Given the description of an element on the screen output the (x, y) to click on. 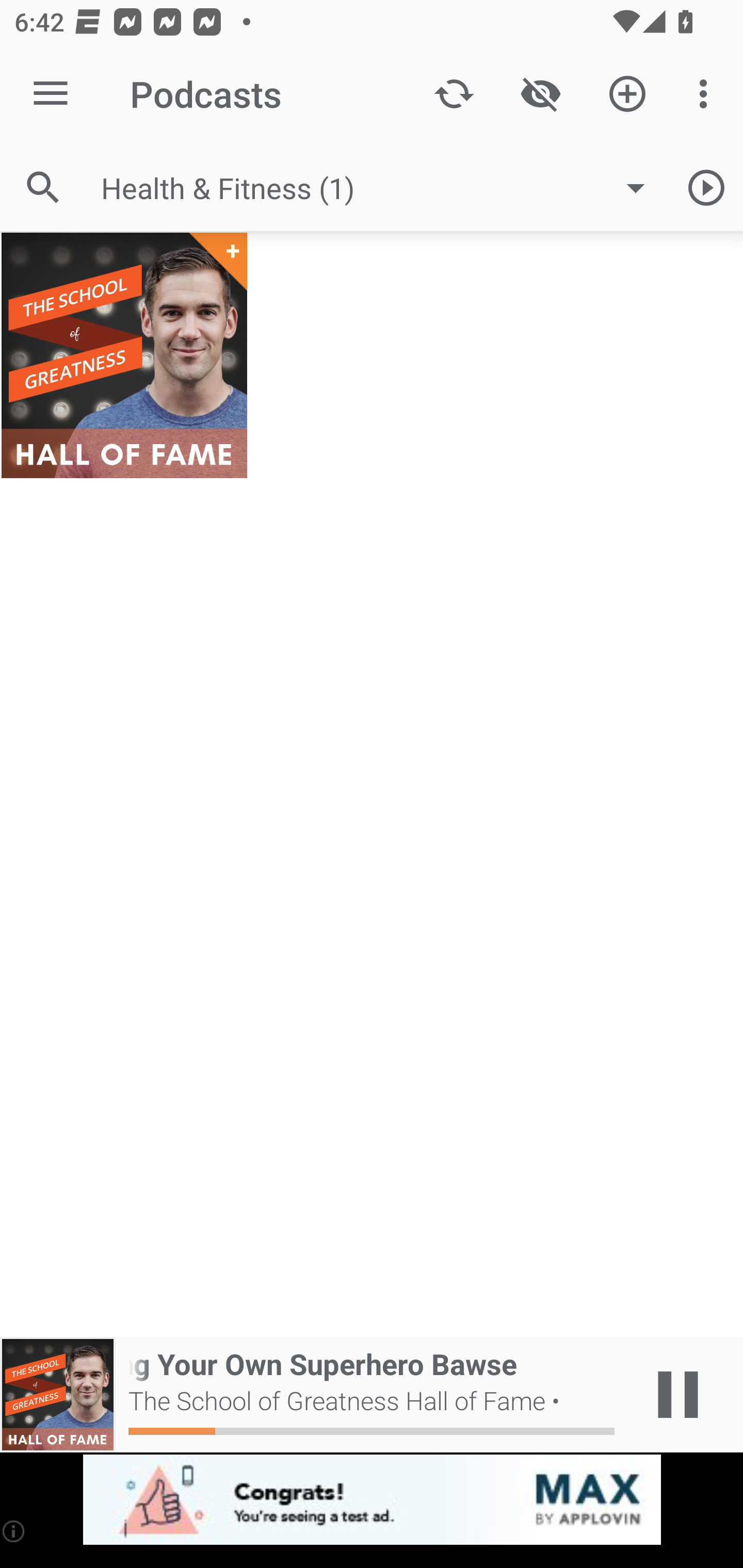
Open navigation sidebar (50, 93)
Update (453, 93)
Show / Hide played content (540, 93)
Add new Podcast (626, 93)
More options (706, 93)
Search (43, 187)
Health & Fitness (1) (382, 188)
The School of Greatness Hall of Fame + (124, 355)
Play / Pause (677, 1394)
app-monetization (371, 1500)
(i) (14, 1531)
